Given the description of an element on the screen output the (x, y) to click on. 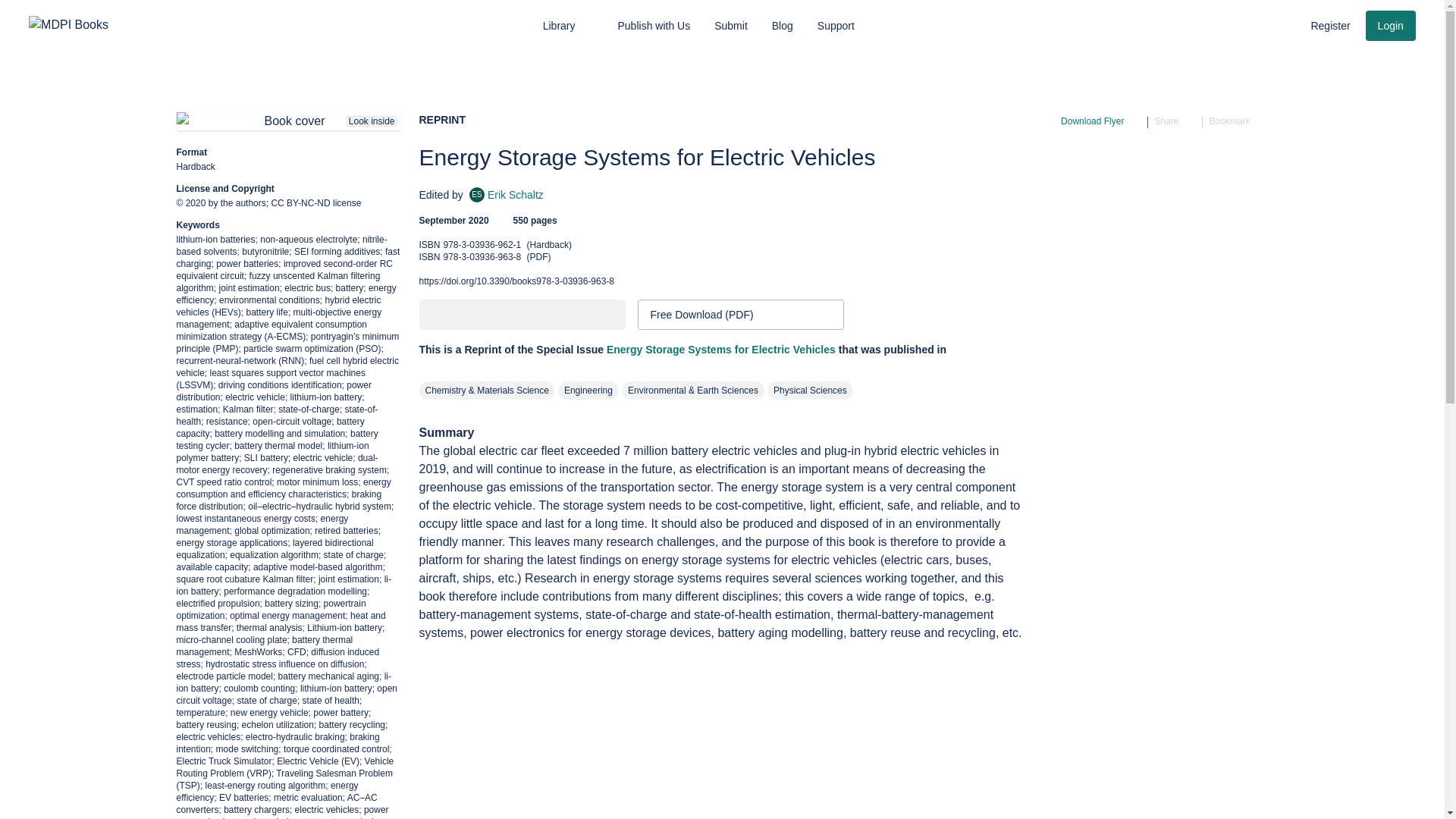
Bookmark (505, 194)
Energy Storage Systems for Electric Vehicles (1238, 121)
Register (721, 349)
Search (1329, 25)
Share (1249, 24)
Download Flyer (1175, 121)
Go to cart (1101, 121)
Look inside (1280, 24)
Library (288, 121)
